Given the description of an element on the screen output the (x, y) to click on. 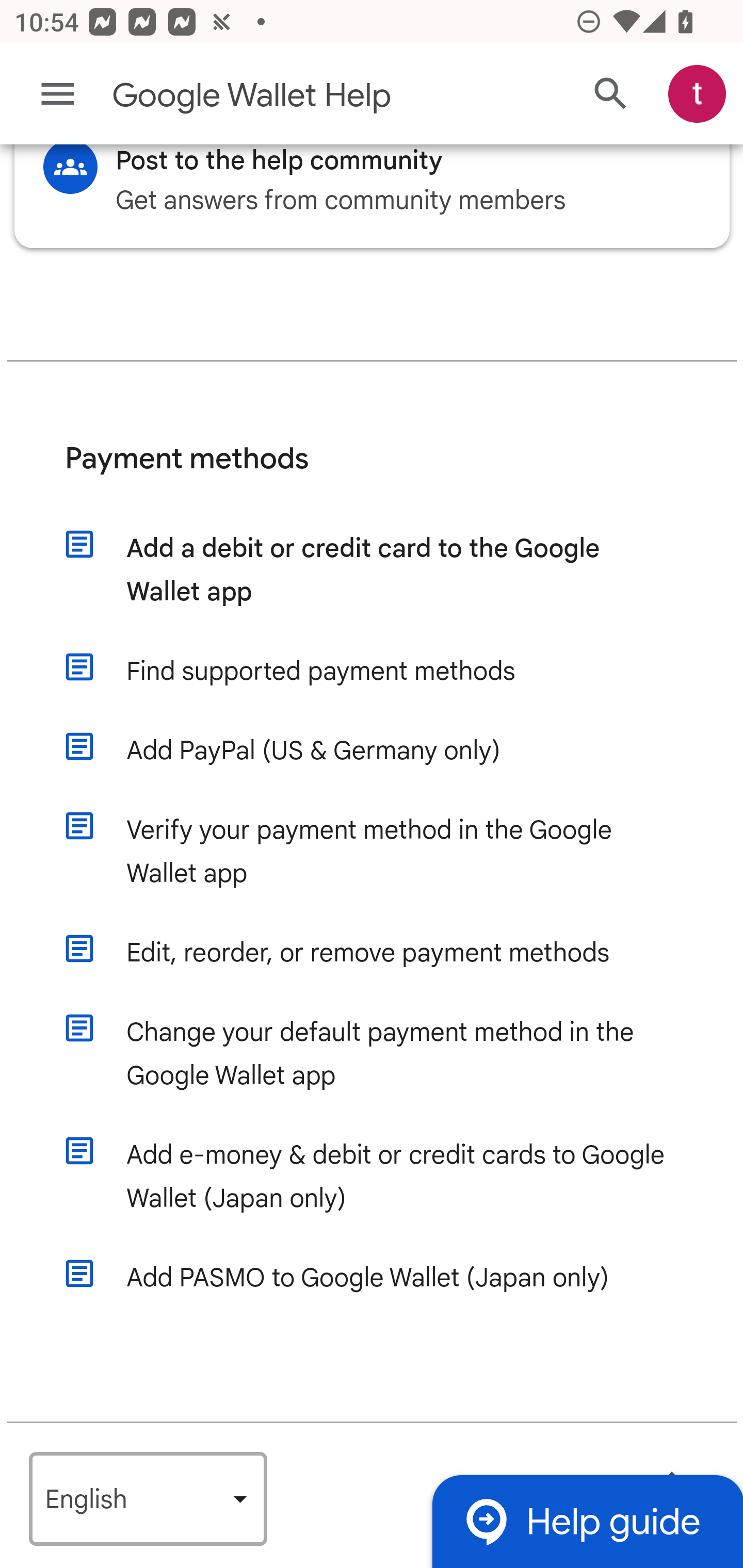
Main menu (58, 93)
Google Wallet Help (292, 96)
Search Help Center (611, 94)
Payment methods Payment methods Payment methods (372, 474)
Find supported payment methods (390, 672)
Add PayPal (US & Germany only) (390, 751)
Edit, reorder, or remove payment methods (390, 954)
Add PASMO to Google Wallet (Japan only) (390, 1278)
Language (English‎) (147, 1499)
Help guide (587, 1520)
